Given the description of an element on the screen output the (x, y) to click on. 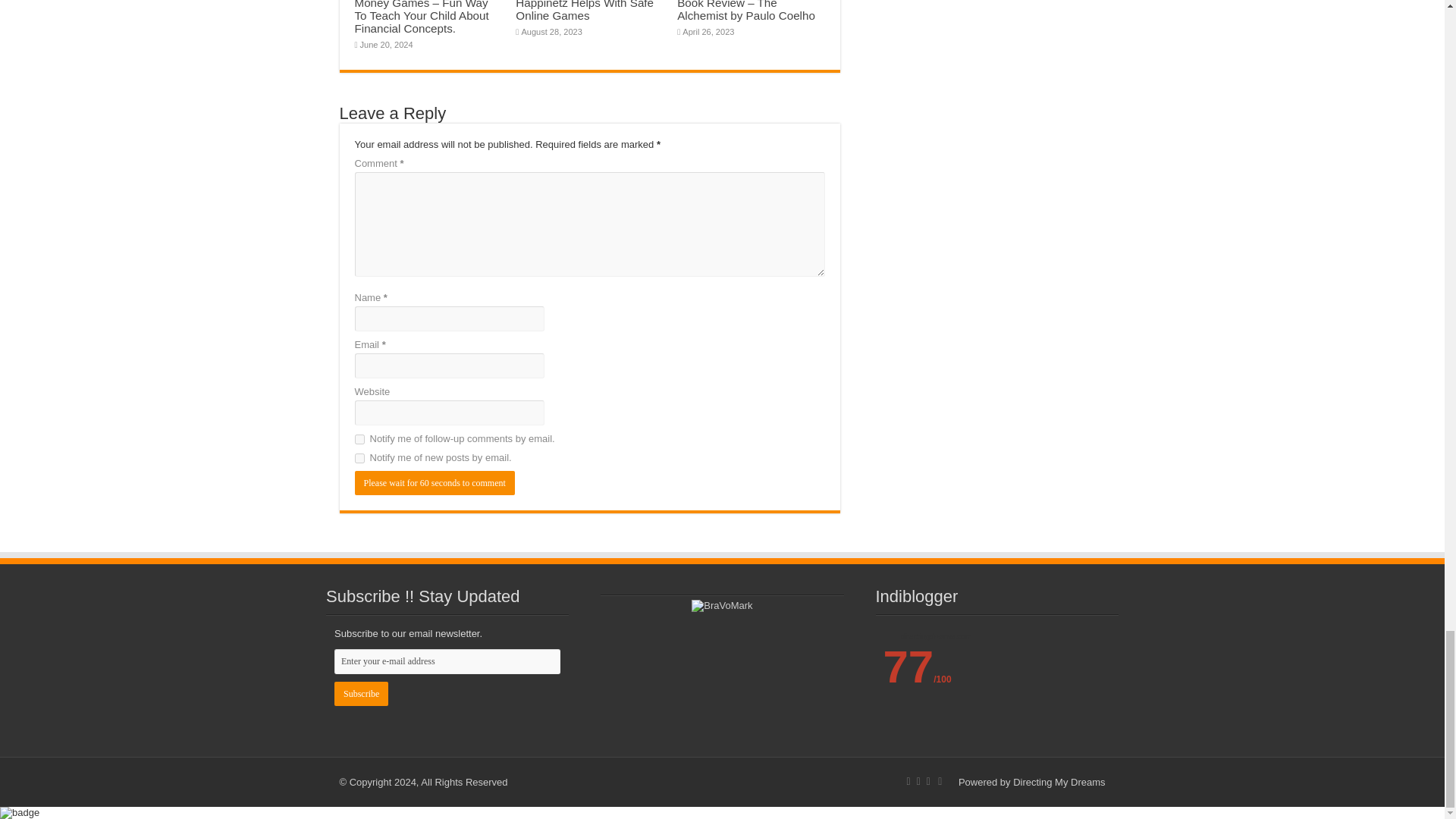
Subscribe (361, 693)
subscribe (360, 439)
Please wait for 60 seconds to comment (435, 482)
Enter your e-mail address (447, 661)
subscribe (360, 458)
